Given the description of an element on the screen output the (x, y) to click on. 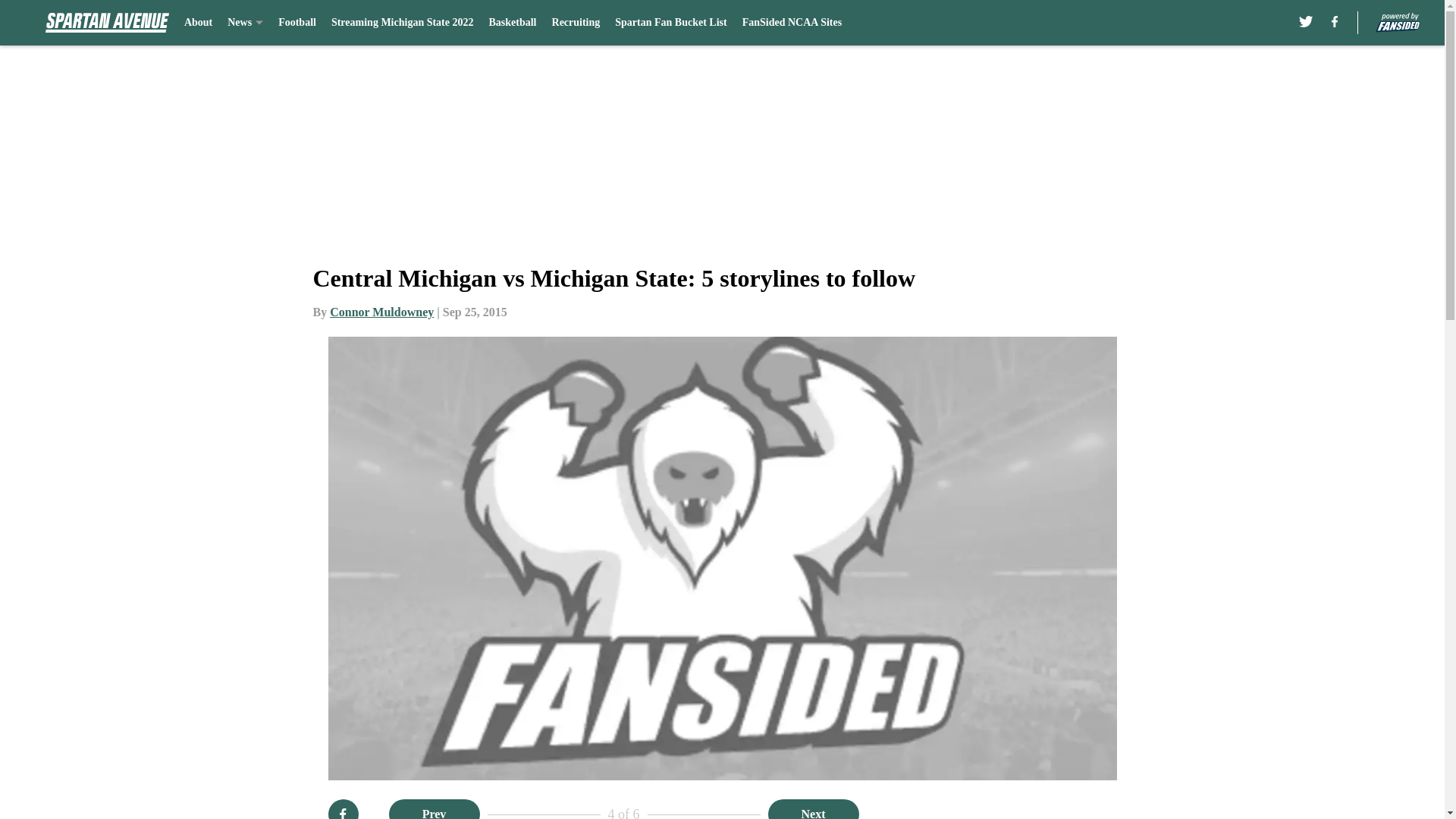
Connor Muldowney (381, 311)
Streaming Michigan State 2022 (402, 22)
Prev (433, 809)
About (198, 22)
Football (296, 22)
FanSided NCAA Sites (791, 22)
Recruiting (575, 22)
Spartan Fan Bucket List (670, 22)
Next (813, 809)
Basketball (511, 22)
